Given the description of an element on the screen output the (x, y) to click on. 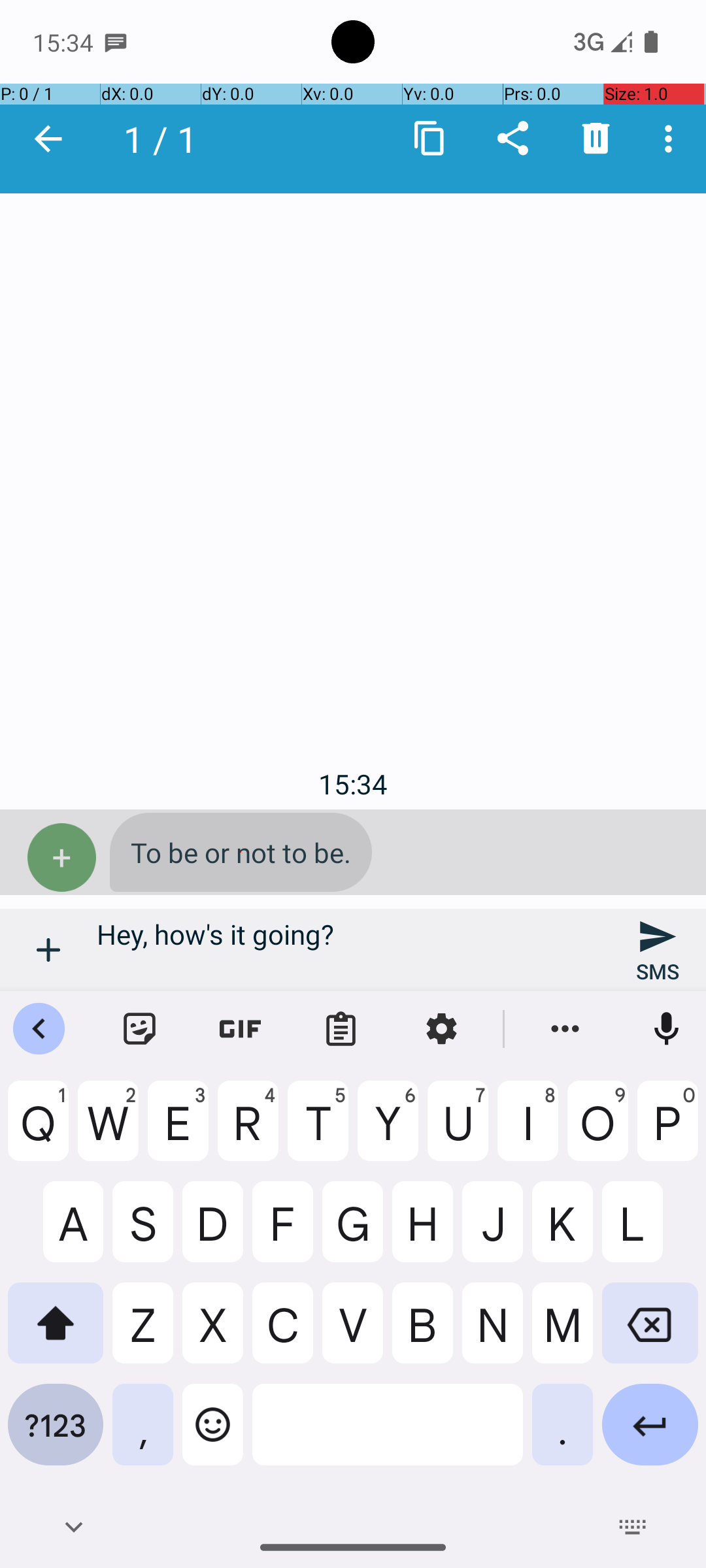
1 / 1 Element type: android.widget.TextView (167, 138)
Copy to clipboard Element type: android.widget.Button (429, 138)
+15508363019 Element type: android.widget.TextView (223, 138)
Hey, how's it going?
 Element type: android.widget.EditText (352, 949)
To be or not to be. Element type: android.widget.TextView (240, 851)
